Given the description of an element on the screen output the (x, y) to click on. 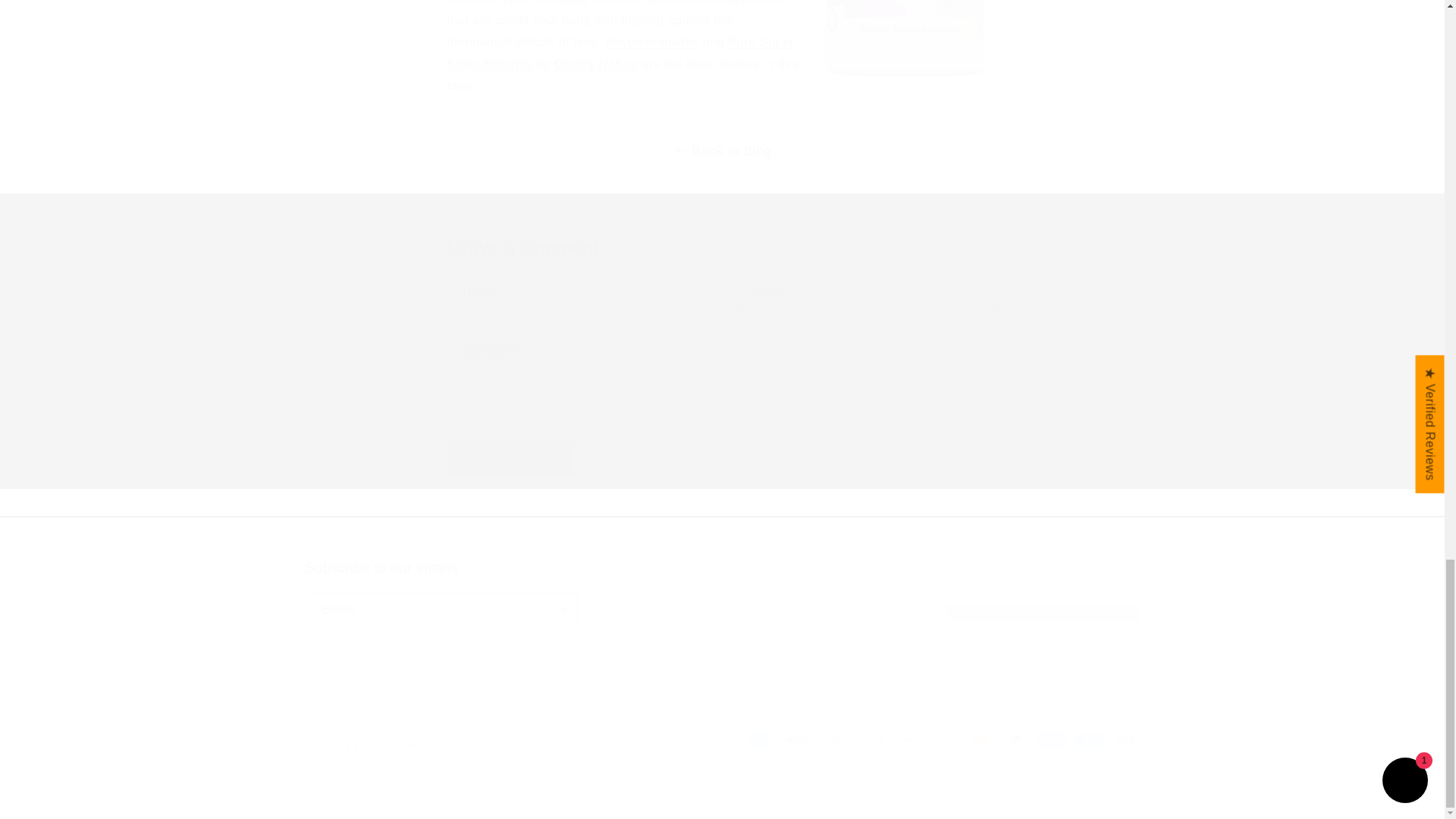
Post comment (721, 593)
Terms of service (510, 458)
Quality Nature (650, 798)
Privacy policy (596, 63)
Contact information (572, 798)
Post comment (821, 798)
Phytoceramides (510, 458)
Powered by Shopify (651, 42)
Purelx (412, 798)
Refund policy (354, 798)
Pure Super Biotin Naturals (498, 798)
Shipping policy (620, 53)
